Given the description of an element on the screen output the (x, y) to click on. 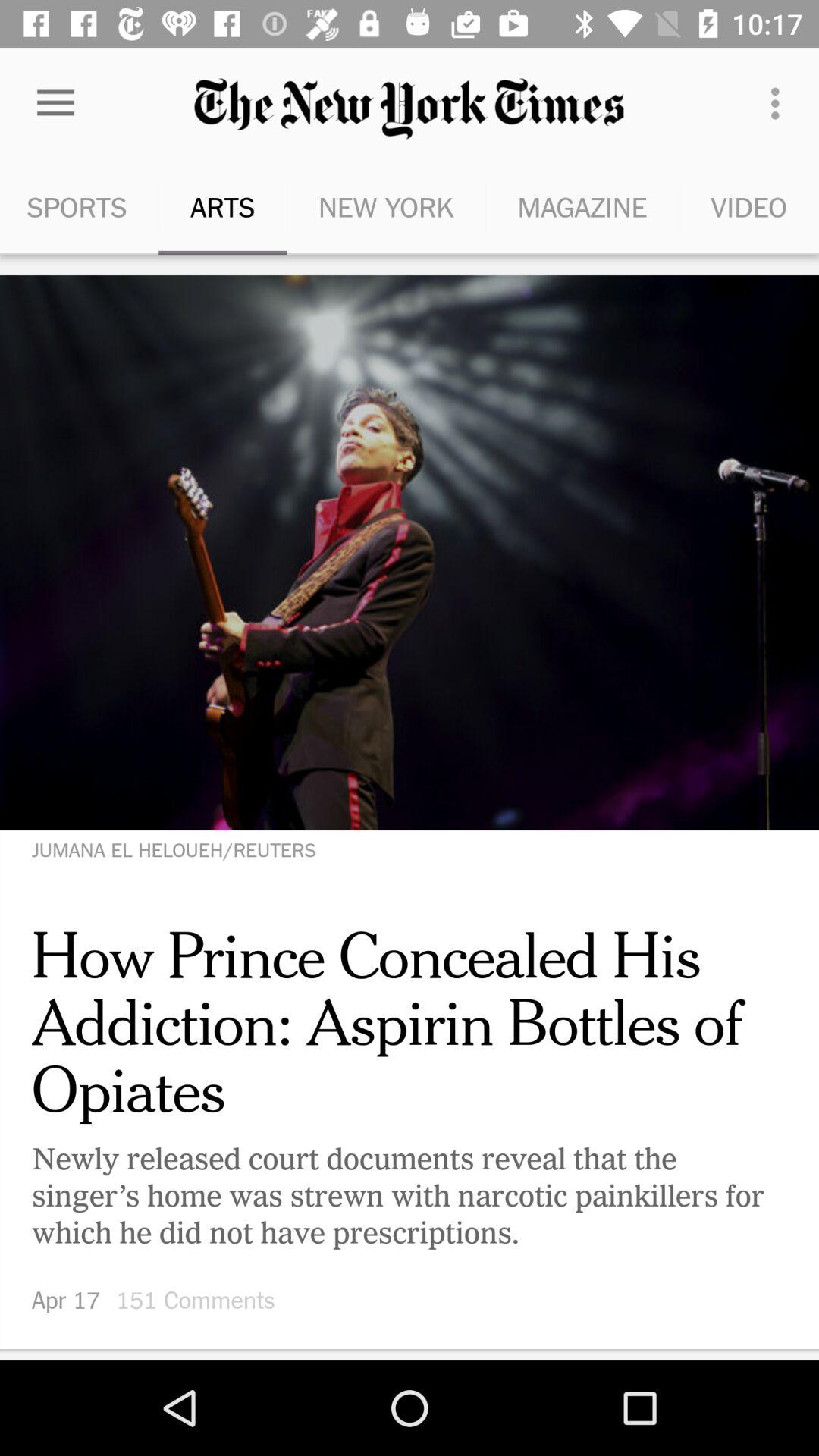
choose the icon next to magazine item (385, 206)
